Given the description of an element on the screen output the (x, y) to click on. 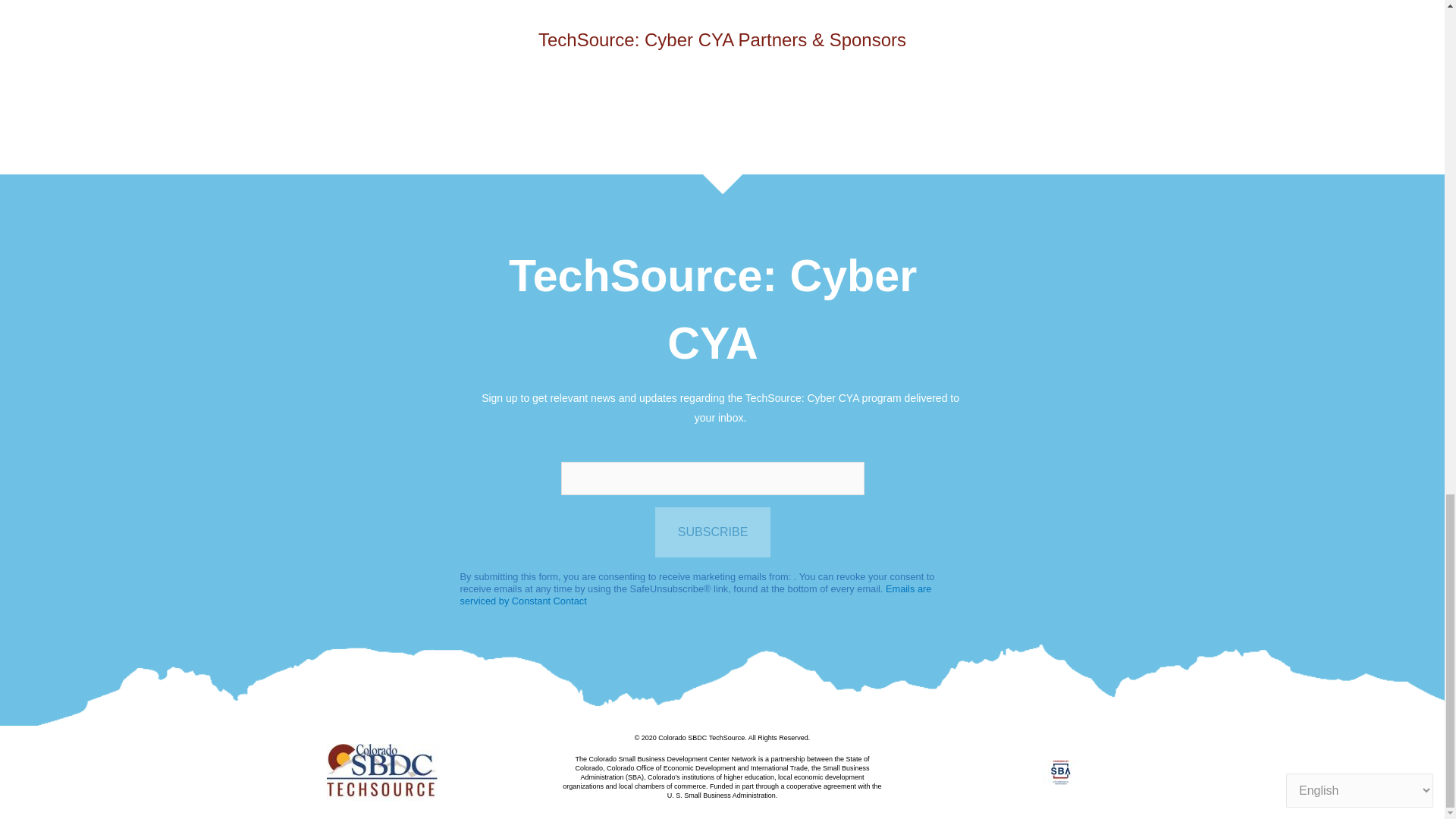
SBA4-PoweredBy-FINAL-WhiteRectangle.jpg (1061, 772)
TechSource-Logo-Red-3.jpg (383, 771)
SUBSCRIBE (712, 531)
